Given the description of an element on the screen output the (x, y) to click on. 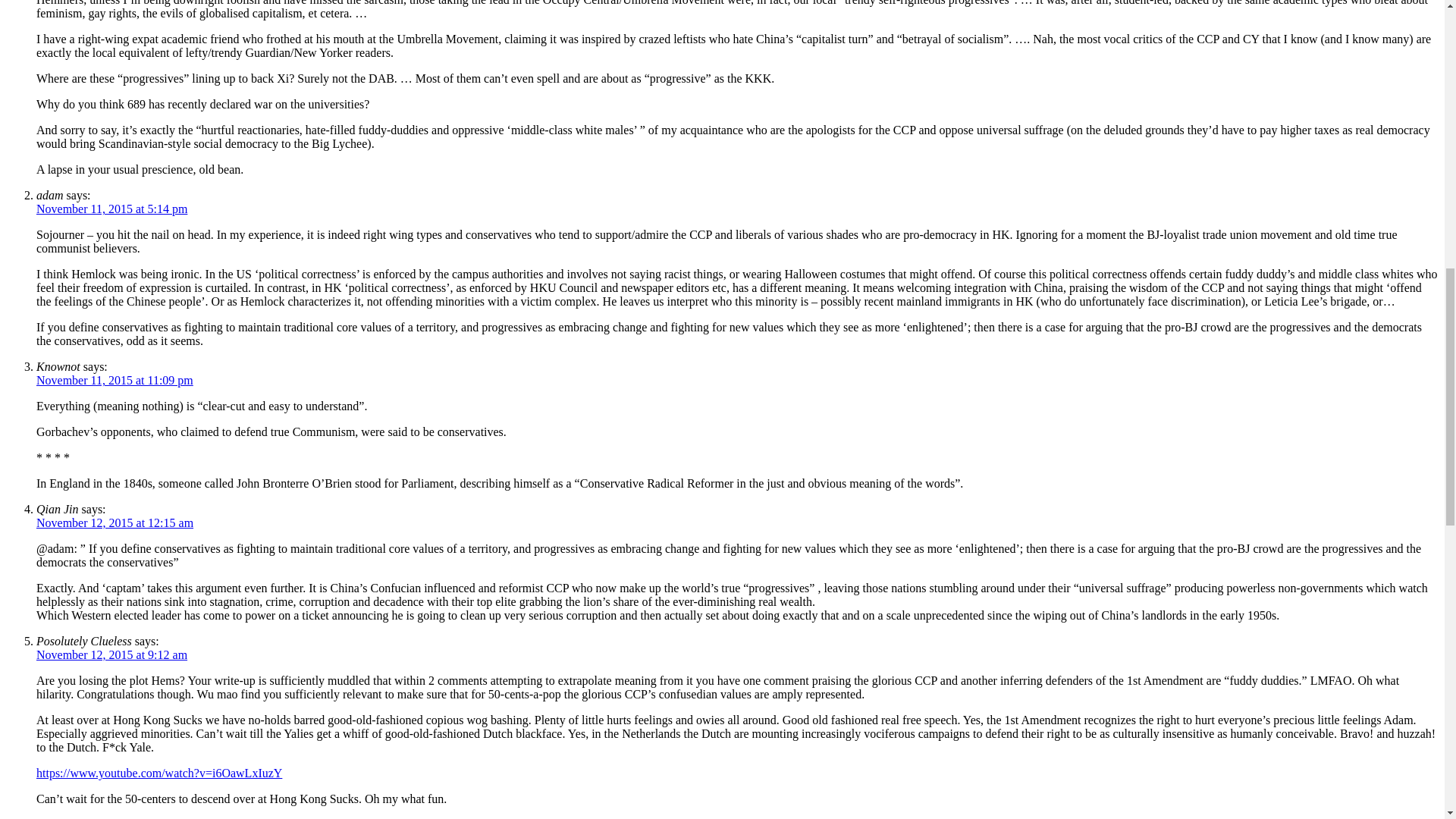
November 11, 2015 at 11:09 pm (114, 379)
November 12, 2015 at 12:15 am (114, 522)
November 11, 2015 at 5:14 pm (111, 208)
November 12, 2015 at 9:12 am (111, 654)
